Given the description of an element on the screen output the (x, y) to click on. 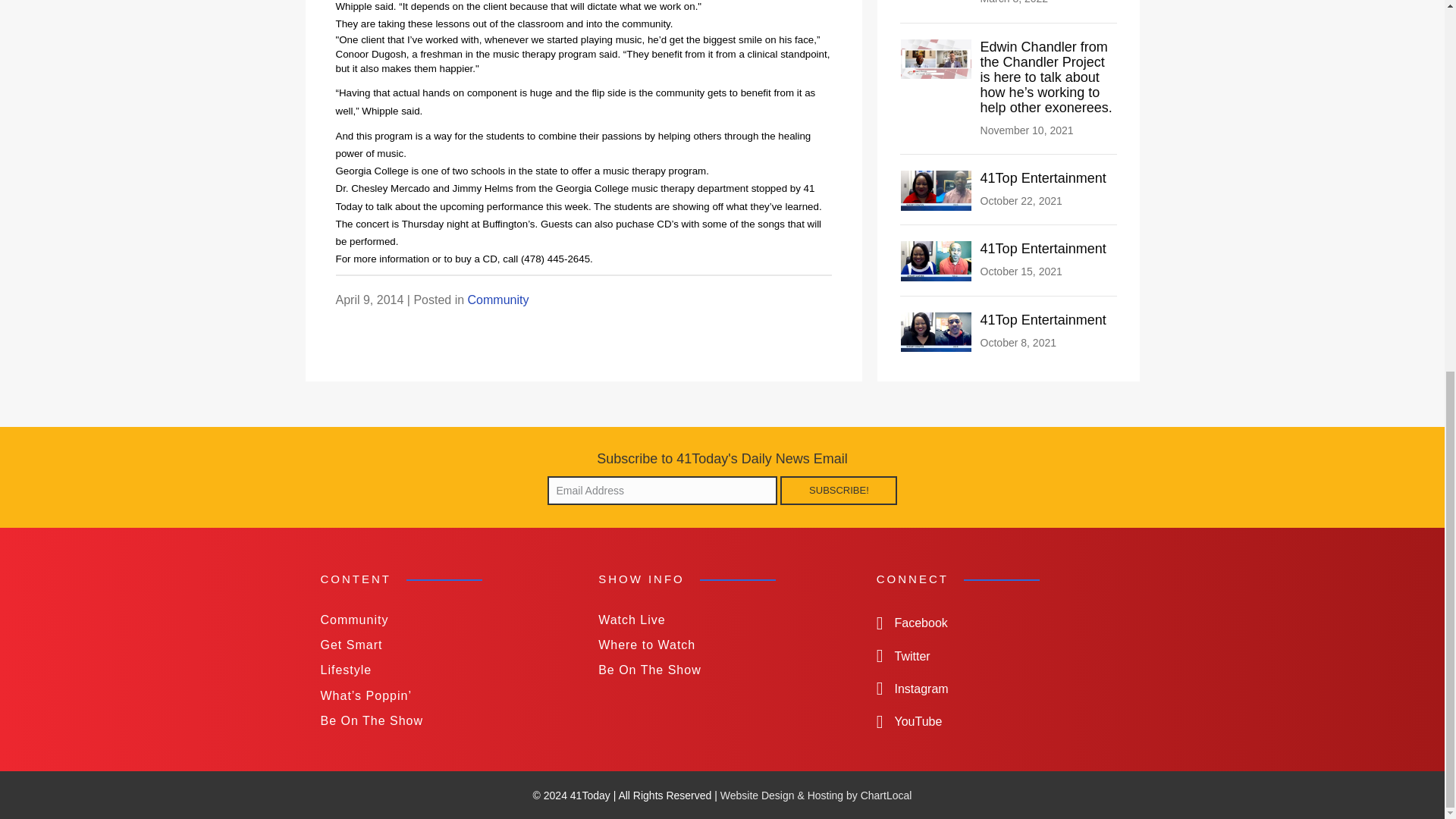
Community (443, 619)
Community (498, 299)
41Top Entertainment (1042, 319)
41Top Entertainment (936, 330)
41Top Entertainment (936, 259)
Watch Live (722, 619)
Be On The Show (443, 720)
Lifestyle (443, 669)
SUBSCRIBE! (838, 490)
41Top Entertainment (1042, 177)
41Top Entertainment (1042, 177)
41Top Entertainment (1042, 248)
41Top Entertainment (936, 189)
41Top Entertainment (1042, 248)
Get Smart (443, 644)
